Given the description of an element on the screen output the (x, y) to click on. 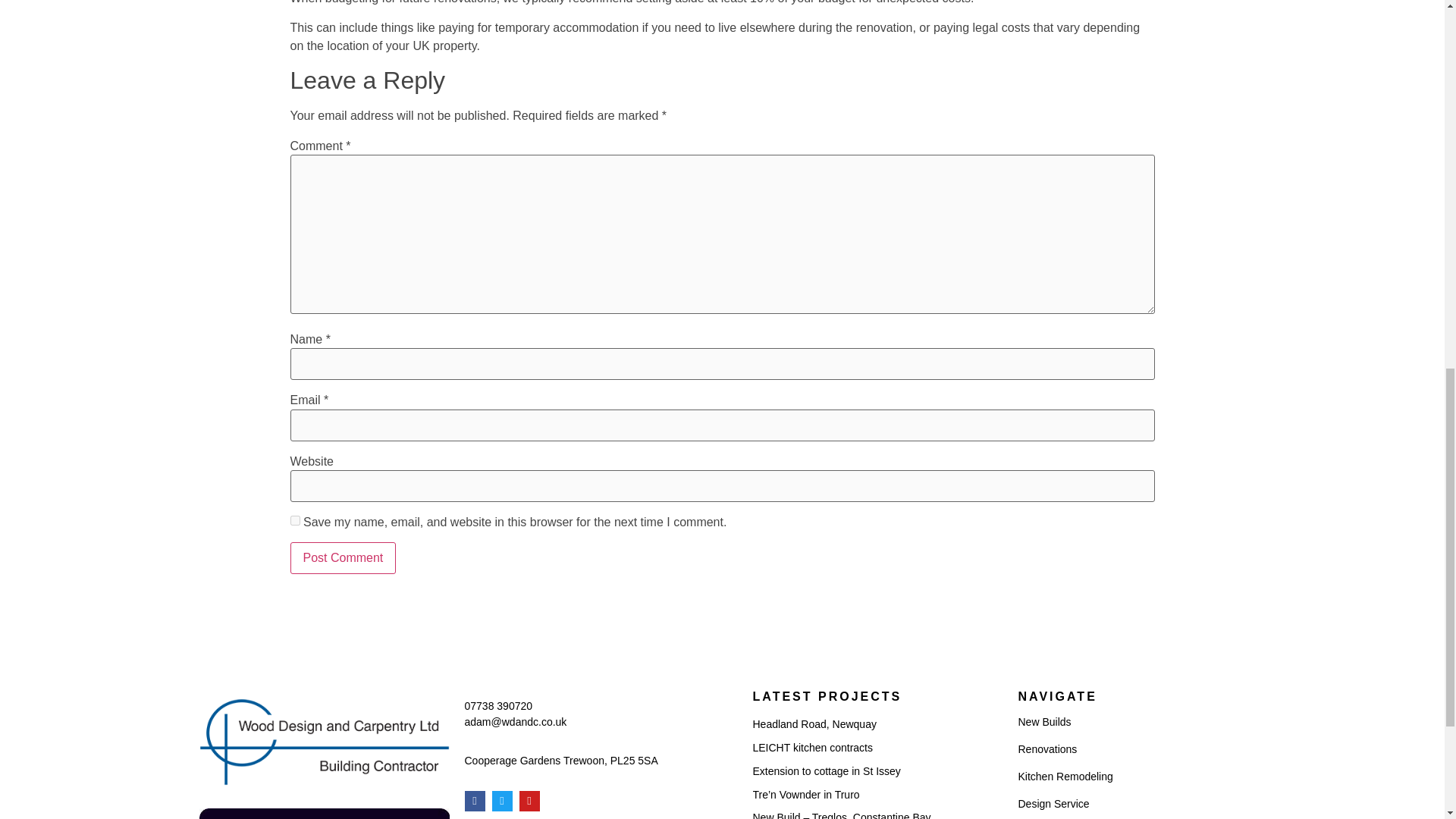
Renovations (1120, 749)
yes (294, 520)
LEICHT kitchen contracts (812, 747)
Extension to cottage in St Issey (825, 770)
New Builds (1120, 722)
Post Comment (342, 558)
Headland Road, Newquay (814, 724)
Post Comment (342, 558)
Kitchen Remodeling (1120, 776)
